Given the description of an element on the screen output the (x, y) to click on. 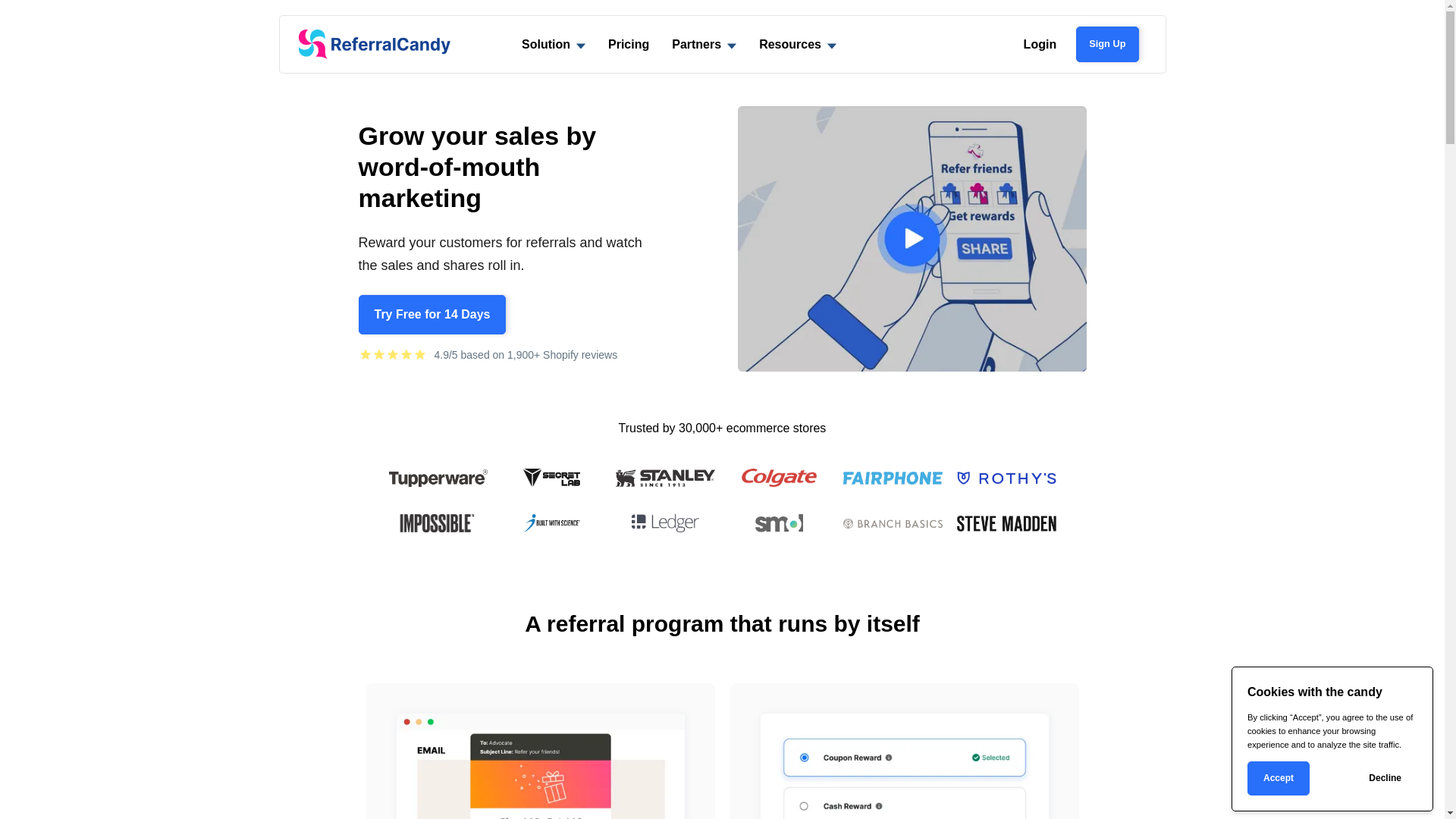
Pricing Element type: text (628, 43)
Decline Element type: text (1384, 778)
Try Free for 14 Days Element type: text (431, 314)
Accept Element type: text (1278, 778)
Login Element type: text (1040, 43)
Sign Up Element type: text (1107, 43)
